Given the description of an element on the screen output the (x, y) to click on. 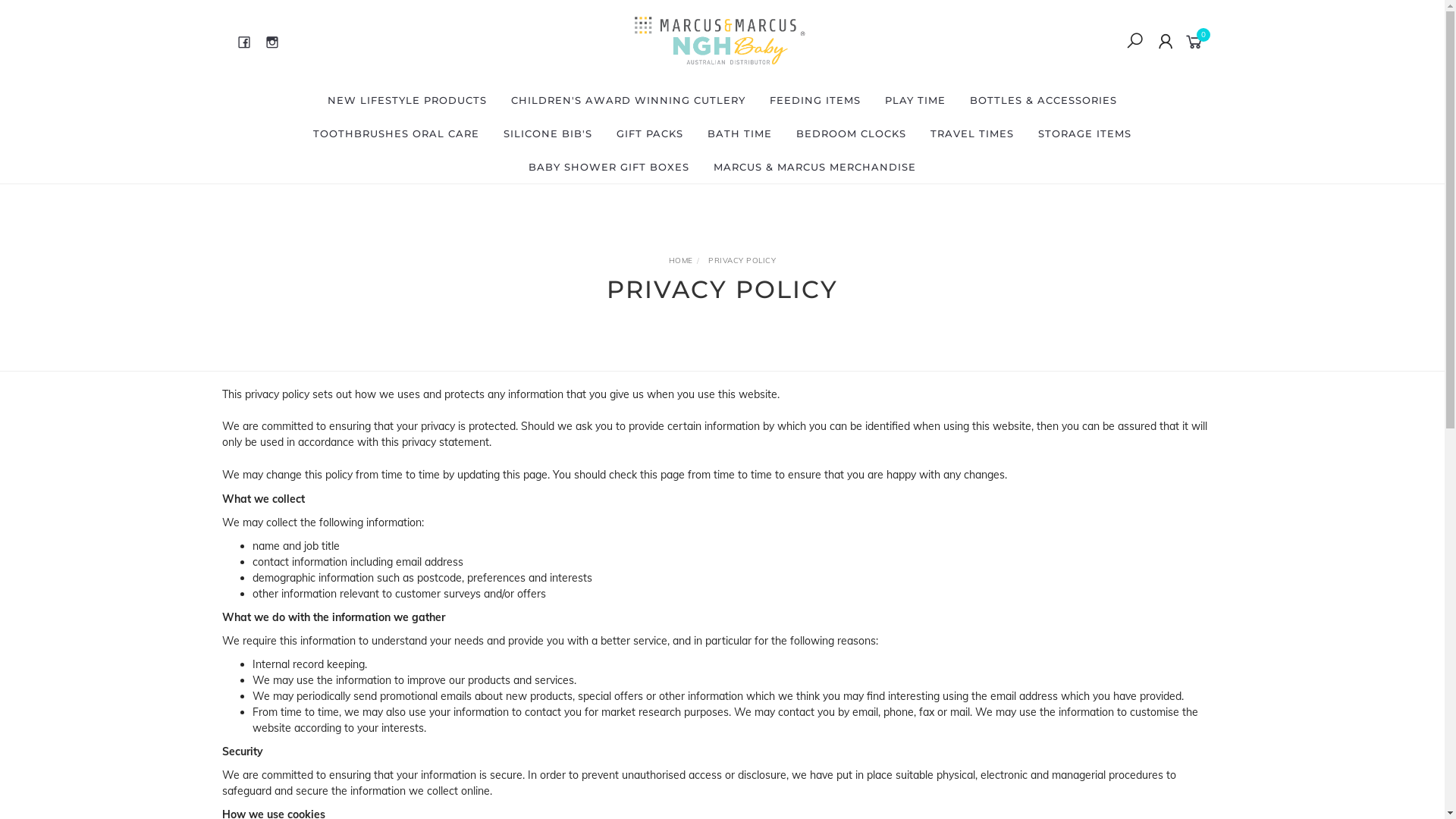
SILICONE BIB'S Element type: text (547, 133)
BABY SHOWER GIFT BOXES Element type: text (608, 166)
BATH TIME Element type: text (739, 133)
0 Element type: text (1196, 40)
STORAGE ITEMS Element type: text (1084, 133)
TOOTHBRUSHES ORAL CARE Element type: text (395, 133)
MARCUS & MARCUS MERCHANDISE Element type: text (814, 166)
FEEDING ITEMS Element type: text (815, 99)
NEW LIFESTYLE PRODUCTS Element type: text (407, 99)
BEDROOM CLOCKS Element type: text (850, 133)
TRAVEL TIMES Element type: text (971, 133)
PRIVACY POLICY Element type: text (741, 260)
PLAY TIME Element type: text (915, 99)
BOTTLES & ACCESSORIES Element type: text (1043, 99)
HOME Element type: text (680, 260)
CHILDREN'S AWARD WINNING CUTLERY Element type: text (628, 99)
GIFT PACKS Element type: text (649, 133)
Next Generation Homeware Pty Ltd Element type: hover (720, 40)
